Given the description of an element on the screen output the (x, y) to click on. 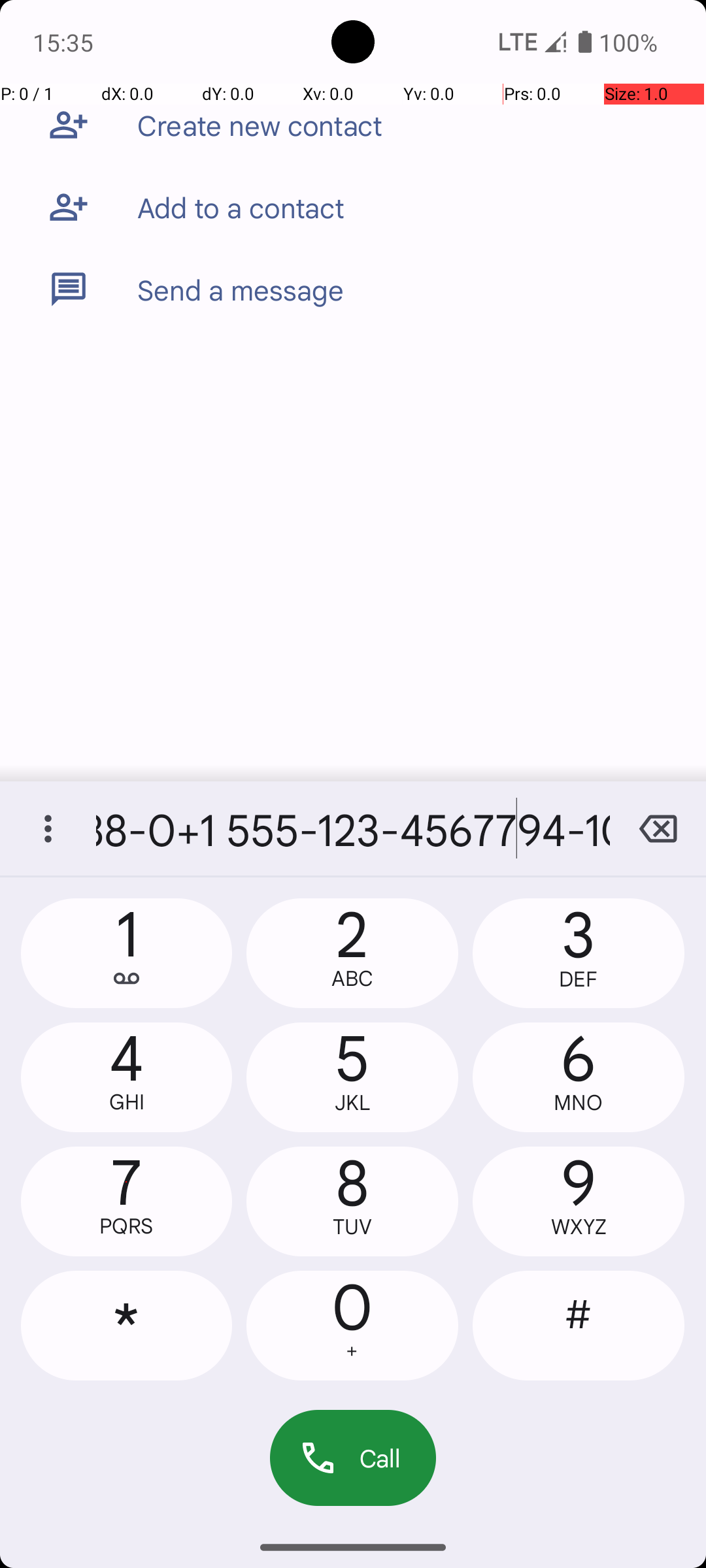
+1 688-0+1 555-123-4567794-10595 Element type: android.widget.EditText (352, 828)
